Given the description of an element on the screen output the (x, y) to click on. 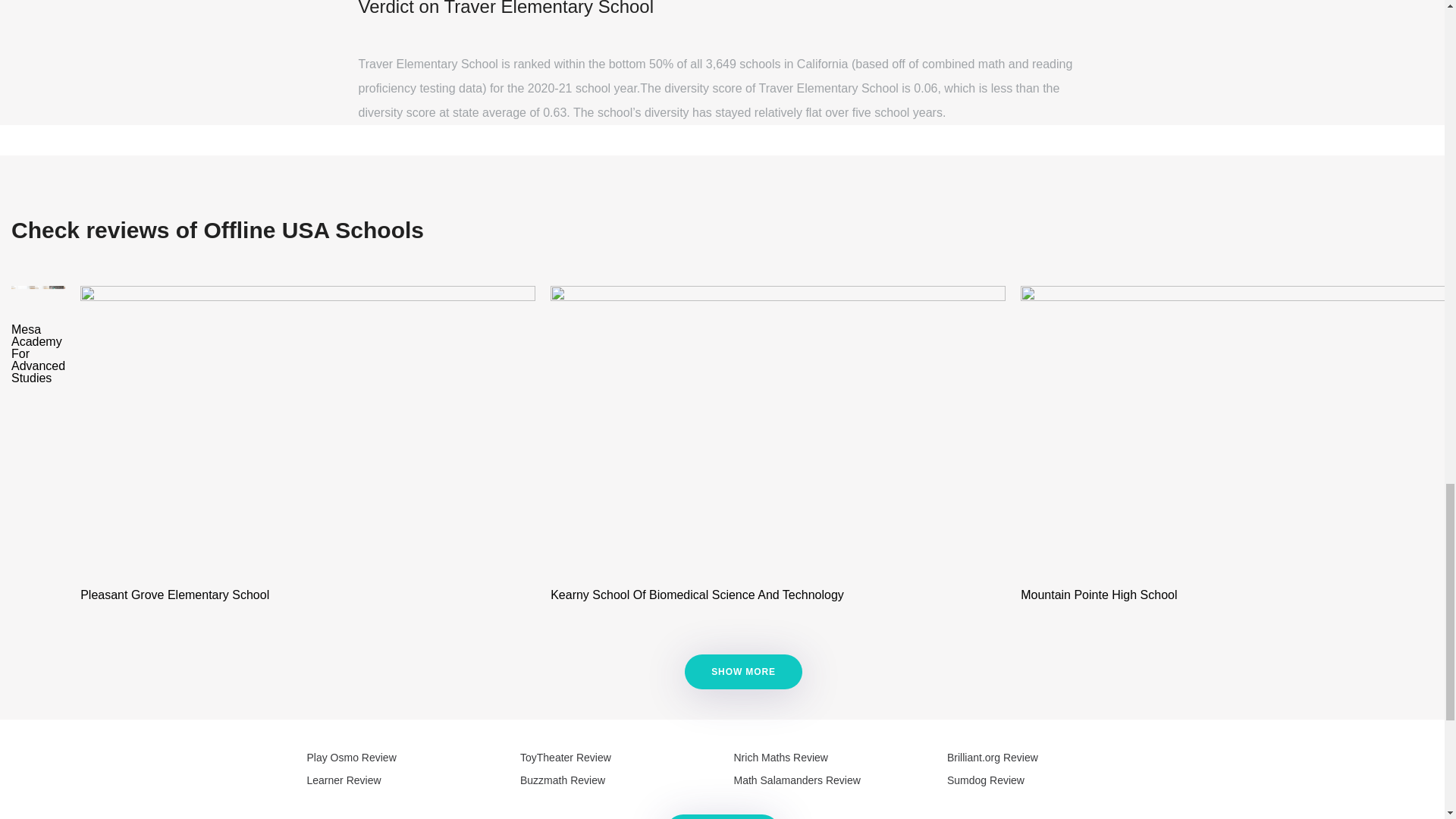
SHOW MORE (743, 671)
Play Osmo Review (350, 757)
Learner Review (342, 779)
